Given the description of an element on the screen output the (x, y) to click on. 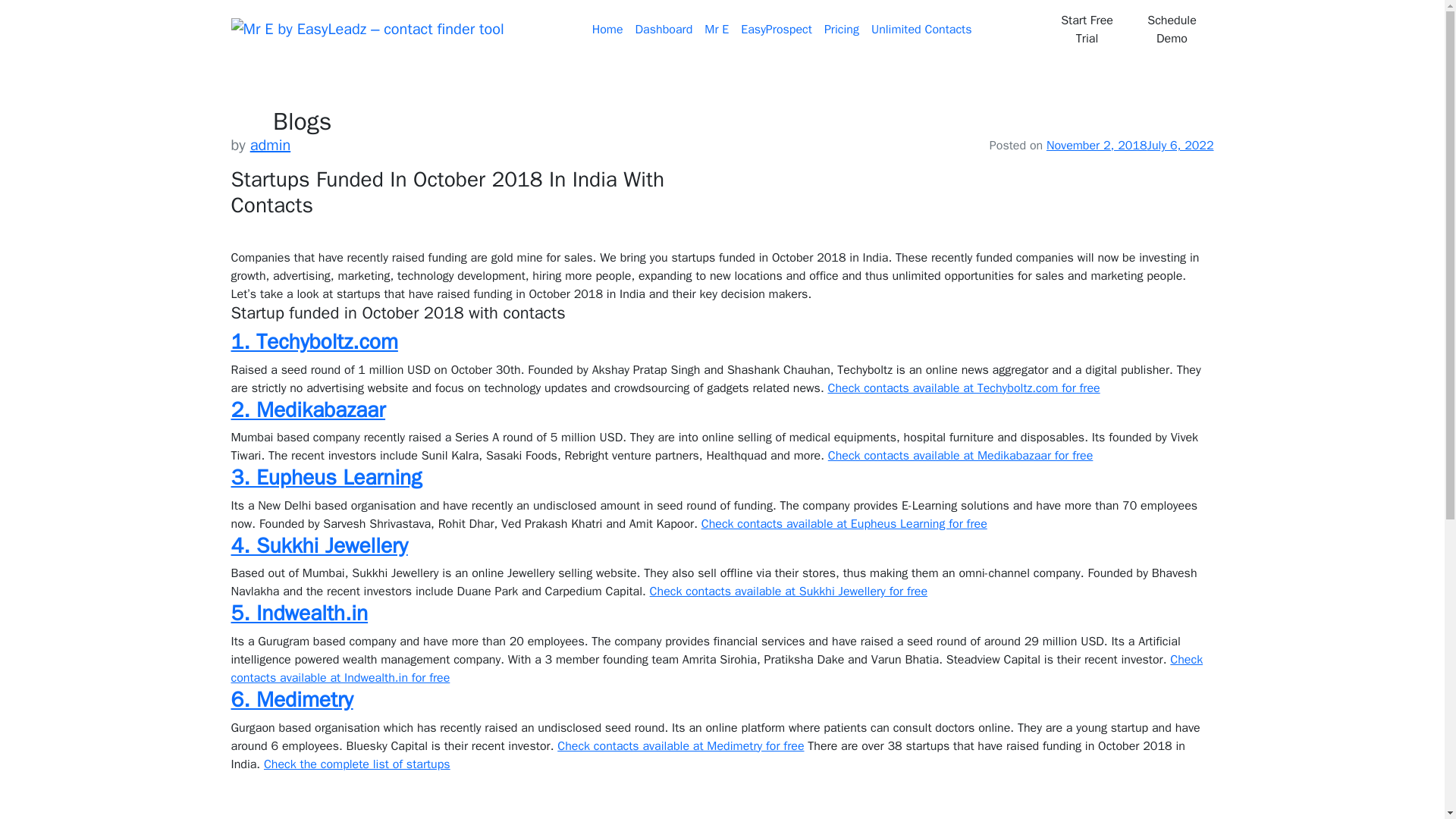
6. Medimetry (291, 699)
Check contacts available at Medimetry for free (680, 745)
3. Eupheus Learning (326, 477)
EasyProspect (776, 29)
Start Free Trial (1085, 29)
Check the complete list of startups (356, 764)
Dashboard (663, 29)
Check contacts available at Medikabazaar for free (960, 455)
Pricing (841, 29)
Home (607, 29)
EasyProspect (776, 29)
Schedule Demo (1172, 29)
Dashboard (663, 29)
admin (270, 144)
Mr E (716, 29)
